Given the description of an element on the screen output the (x, y) to click on. 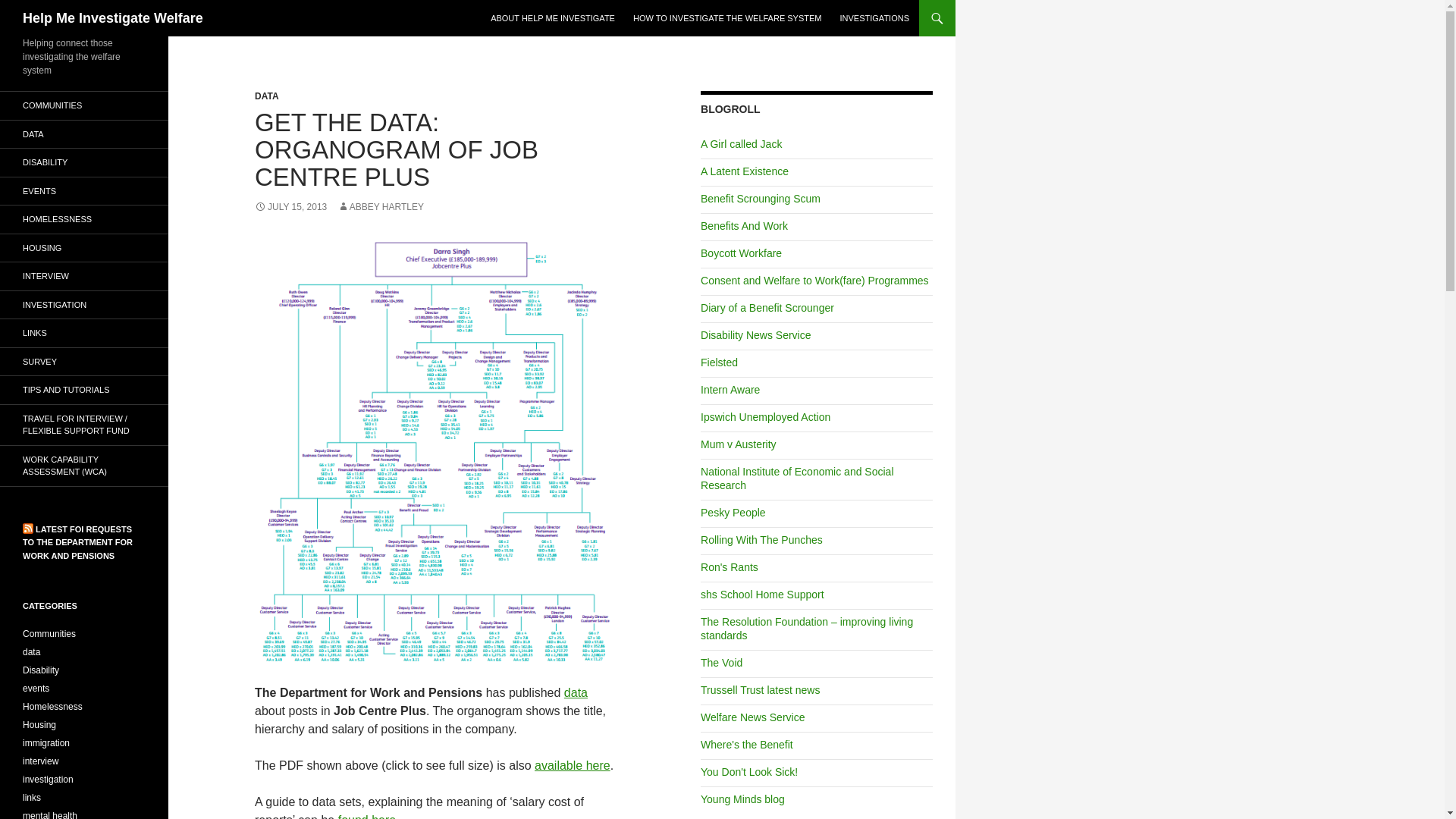
JULY 15, 2013 (290, 206)
National Institute of Economic and Social Research (796, 478)
data (576, 692)
Benefits And Work (743, 225)
shs School Home Support (762, 594)
Mum v Austerity (738, 444)
Benefit Scrounging Scum (760, 198)
Pesky People (732, 512)
